Given the description of an element on the screen output the (x, y) to click on. 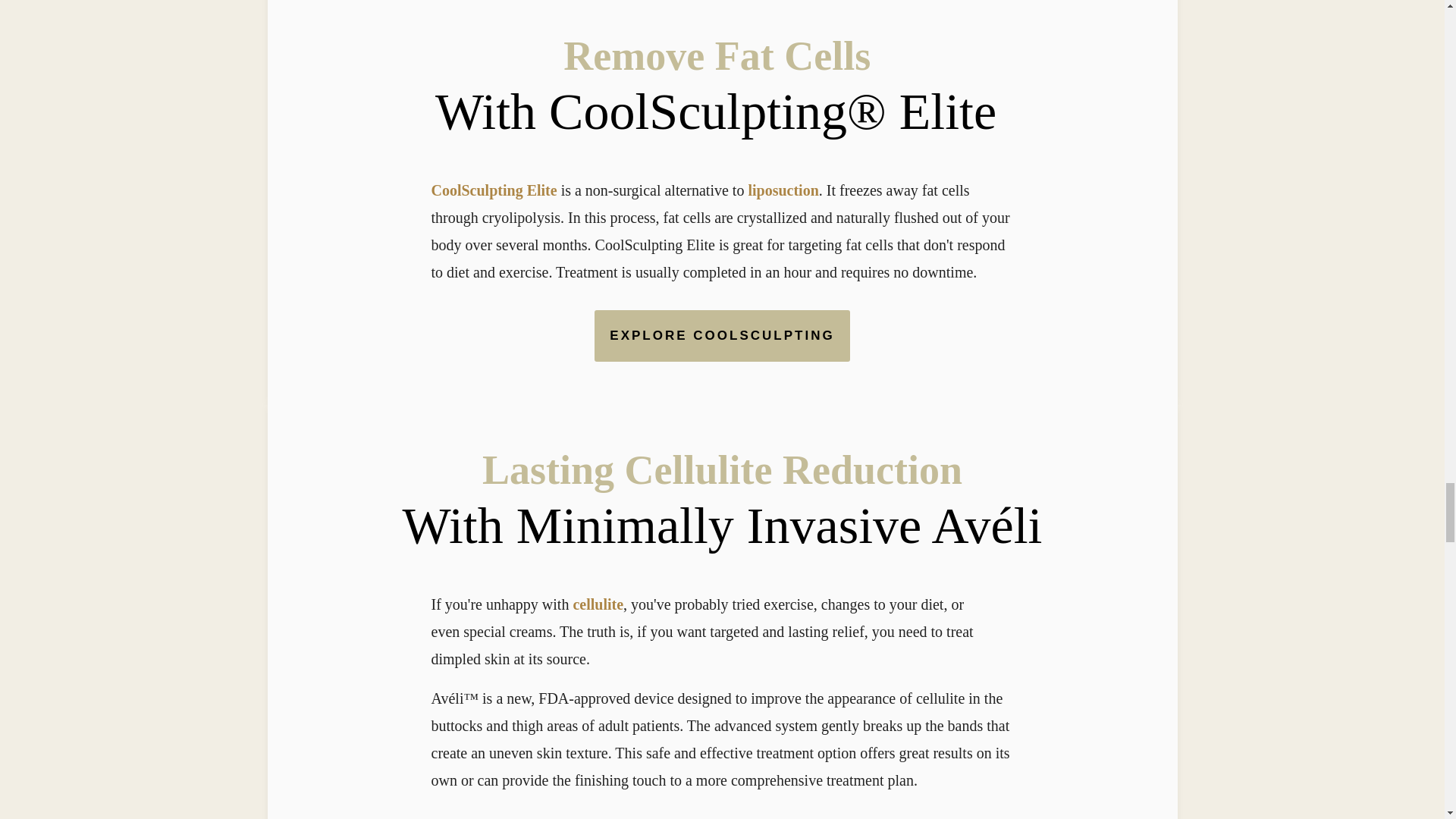
liposuction (783, 190)
CoolSculpting Elite (493, 190)
EXPLORE COOLSCULPTING (721, 336)
